Given the description of an element on the screen output the (x, y) to click on. 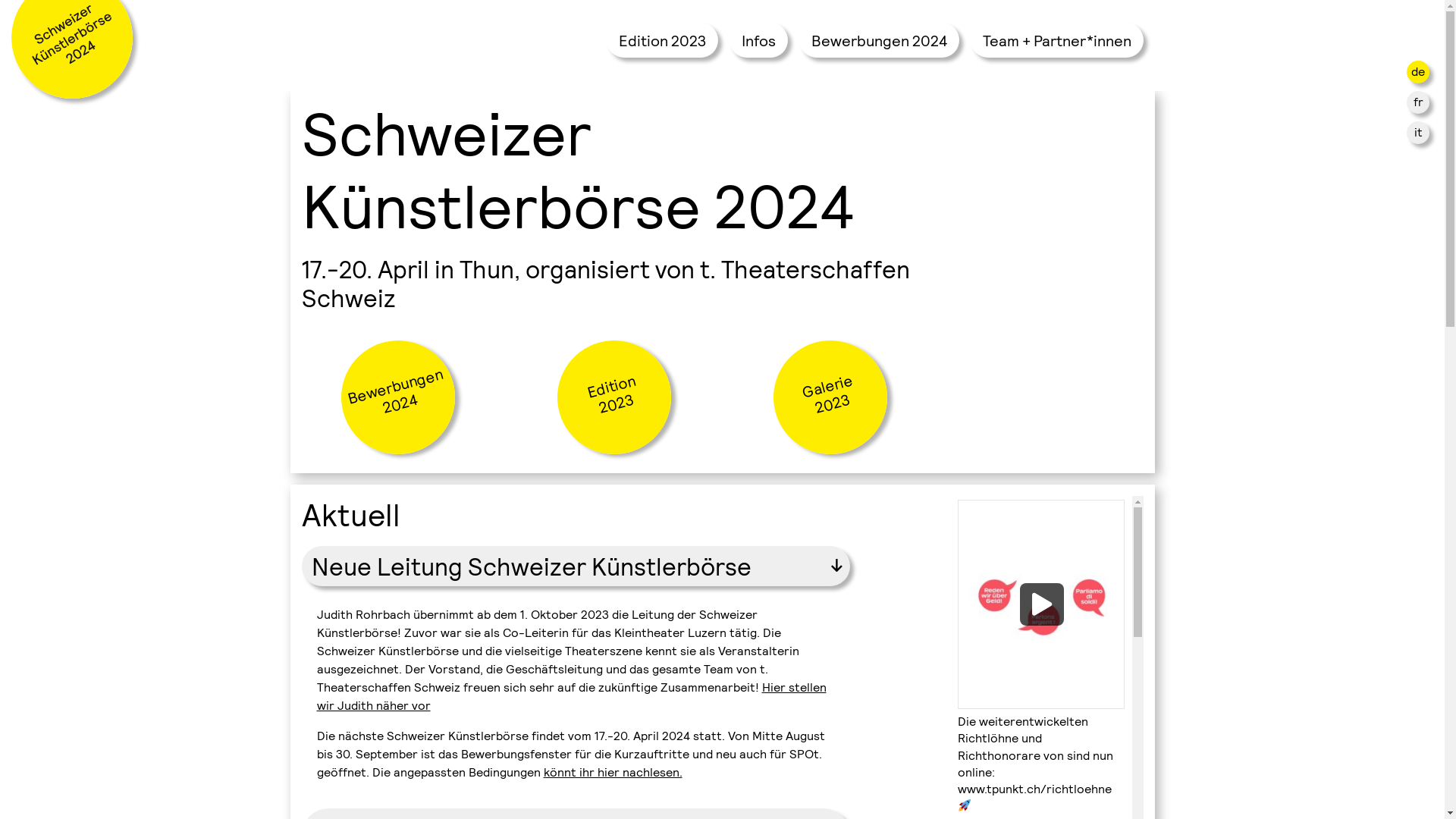
Galerie 2023 Element type: text (817, 385)
it Element type: text (1417, 131)
Infos Element type: text (758, 39)
Skip to content Element type: text (0, 91)
Bewerbungen 2024 Element type: text (879, 39)
Team + Partner*innen Element type: text (1056, 39)
Edition 2023 Element type: text (601, 385)
fr Element type: text (1418, 101)
Bewerbungen 2024 Element type: text (385, 385)
Play Element type: text (1040, 603)
www.tpunkt.ch/richtloehne Element type: text (1033, 788)
Edition 2023 Element type: text (662, 39)
